Given the description of an element on the screen output the (x, y) to click on. 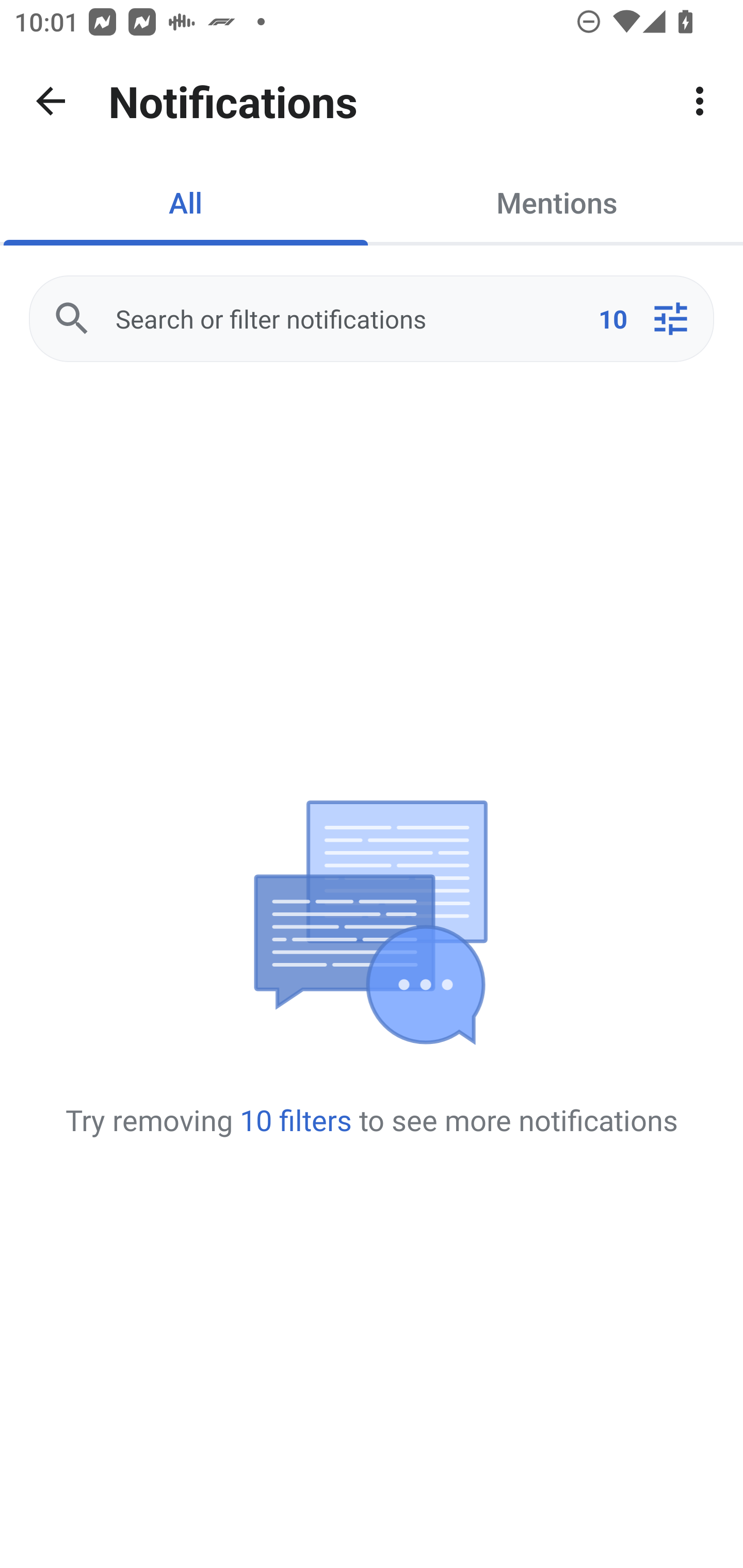
Navigate up (50, 101)
More (699, 101)
Mentions (557, 202)
Notification filter (670, 318)
